Given the description of an element on the screen output the (x, y) to click on. 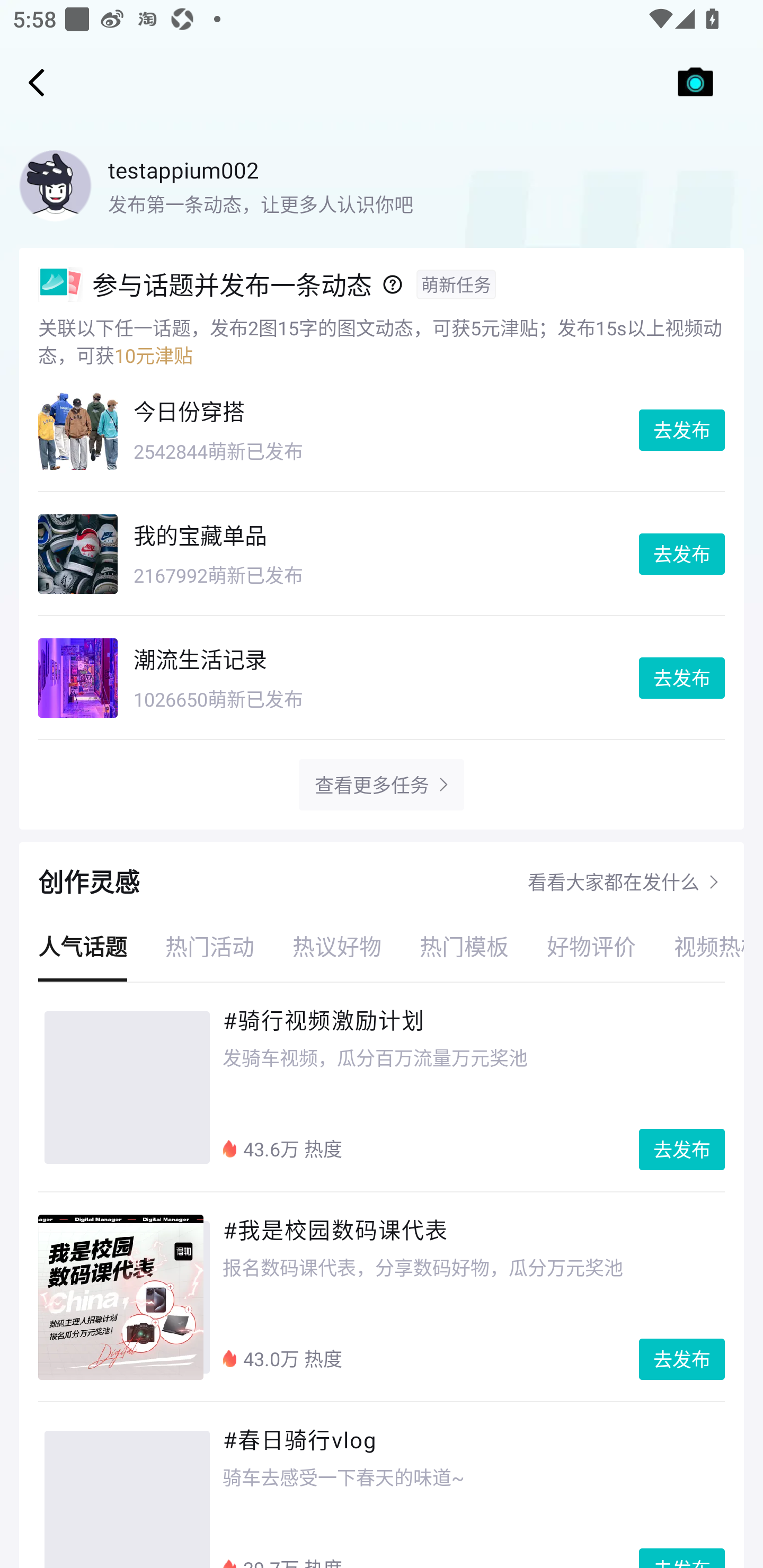
Navigate up (36, 82)
去发布 (681, 430)
去发布 (681, 554)
去发布 (681, 677)
查看更多任务 (371, 784)
热门活动 (209, 946)
热议好物 (336, 946)
热门模板 (463, 946)
好物评价 (590, 946)
视频热榜 (698, 946)
#骑行视频激励计划 发骑车视频，瓜分百万流量万元奖池 43.6万 热度 去发布 (381, 1087)
去发布 (681, 1148)
#我是校园数码课代表 报名数码课代表，分享数码好物，瓜分万元奖池 43.0万 热度 去发布 (381, 1296)
去发布 (681, 1359)
#春日骑行vlog 骑车去感受一下春天的味道~ 39.7万 热度 去发布 (381, 1484)
